Given the description of an element on the screen output the (x, y) to click on. 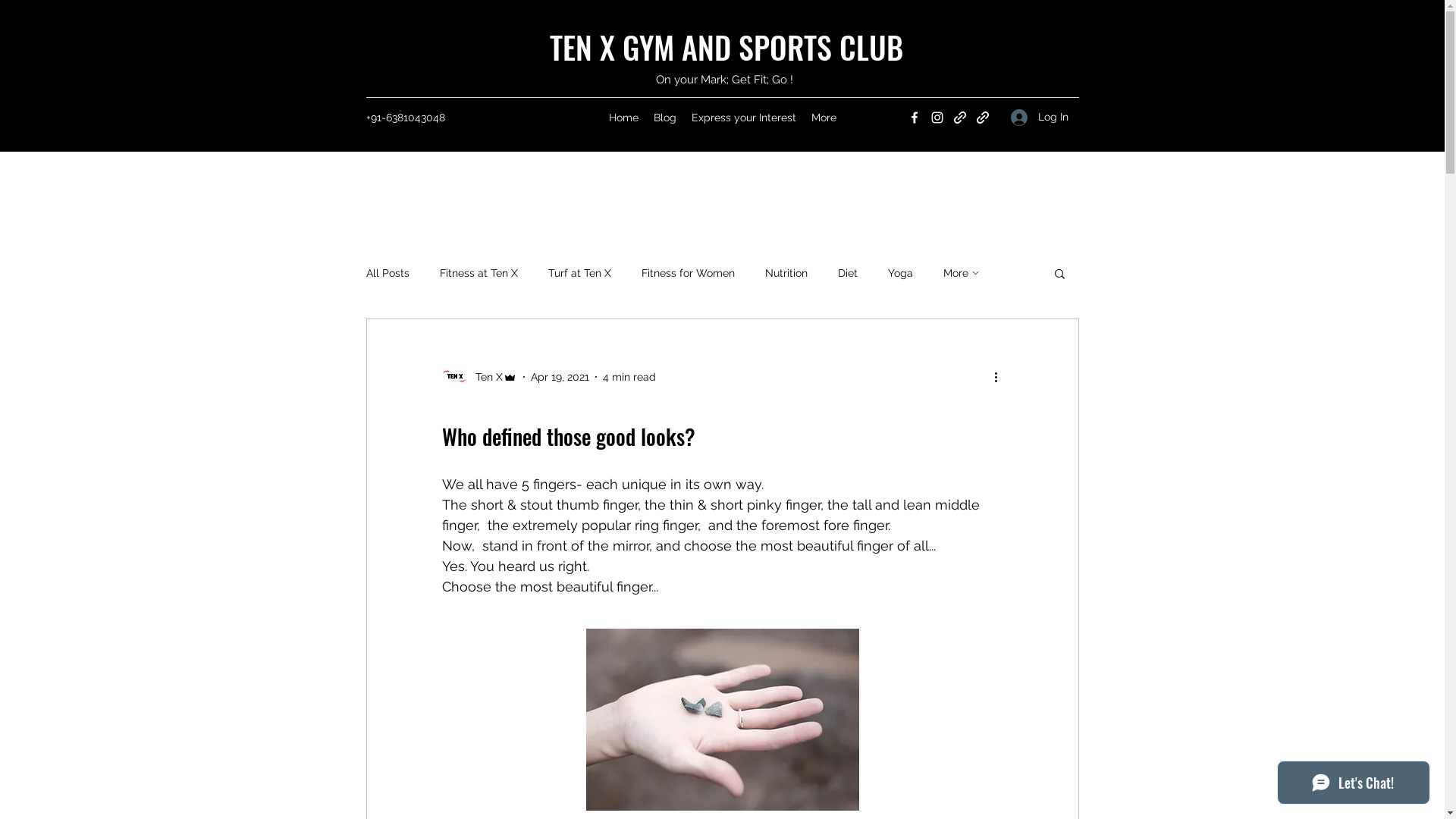
TEN X GYM AND SPORTS CLUB Element type: text (725, 46)
Fitness at Ten X Element type: text (478, 272)
Yoga Element type: text (899, 272)
Diet Element type: text (846, 272)
All Posts Element type: text (386, 272)
Ten X Element type: text (478, 376)
Fitness for Women Element type: text (687, 272)
Log In Element type: text (1038, 117)
Turf at Ten X Element type: text (578, 272)
Nutrition Element type: text (785, 272)
Blog Element type: text (665, 117)
Home Element type: text (623, 117)
Express your Interest Element type: text (743, 117)
